Given the description of an element on the screen output the (x, y) to click on. 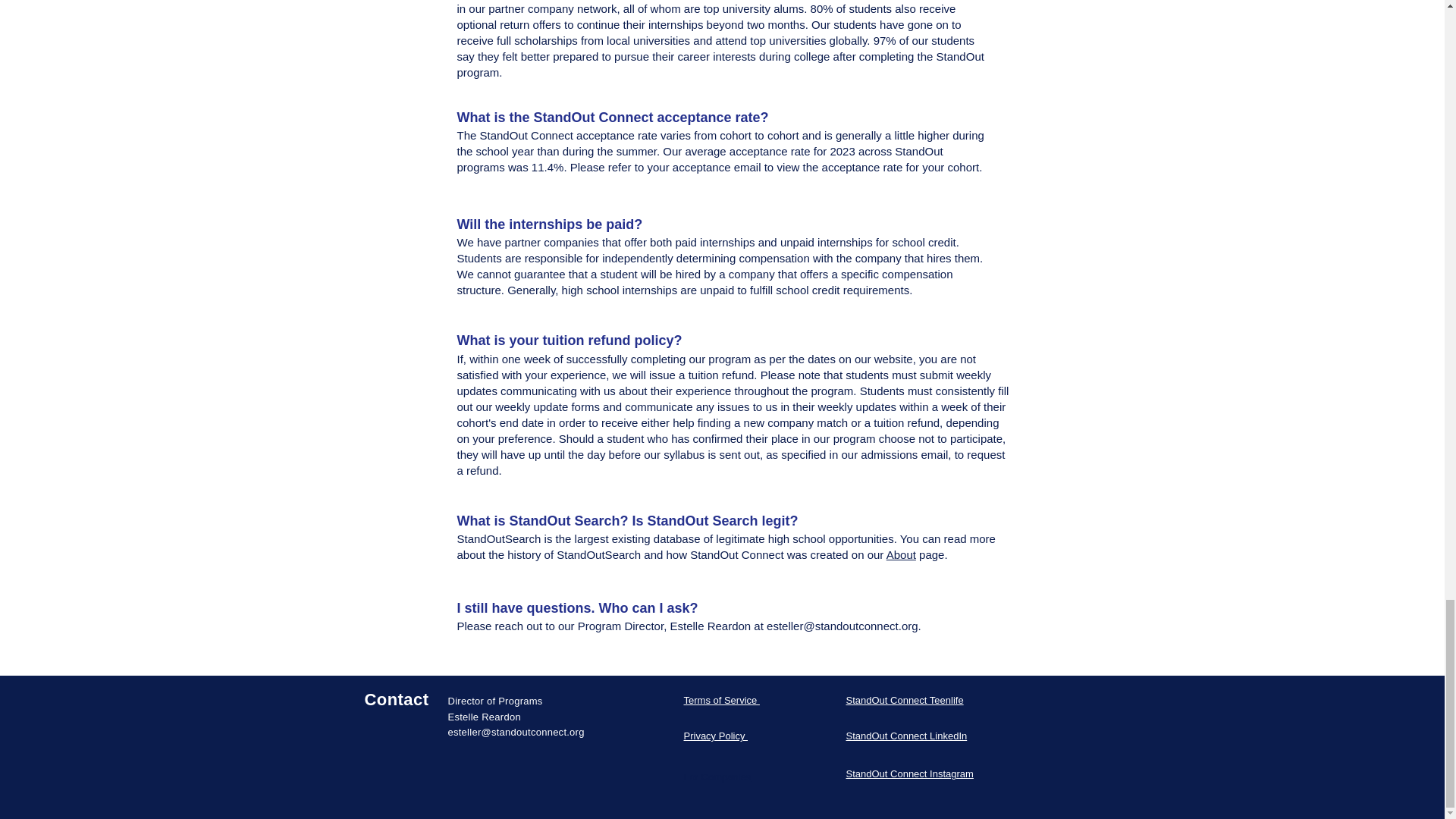
StandOut Connect LinkedIn (906, 736)
StandOut Connect Instagram (909, 773)
StandOut Connect Teenlife (904, 699)
Privacy Policy  (716, 736)
About (900, 554)
For Companies (717, 776)
Terms of Service  (722, 699)
